Given the description of an element on the screen output the (x, y) to click on. 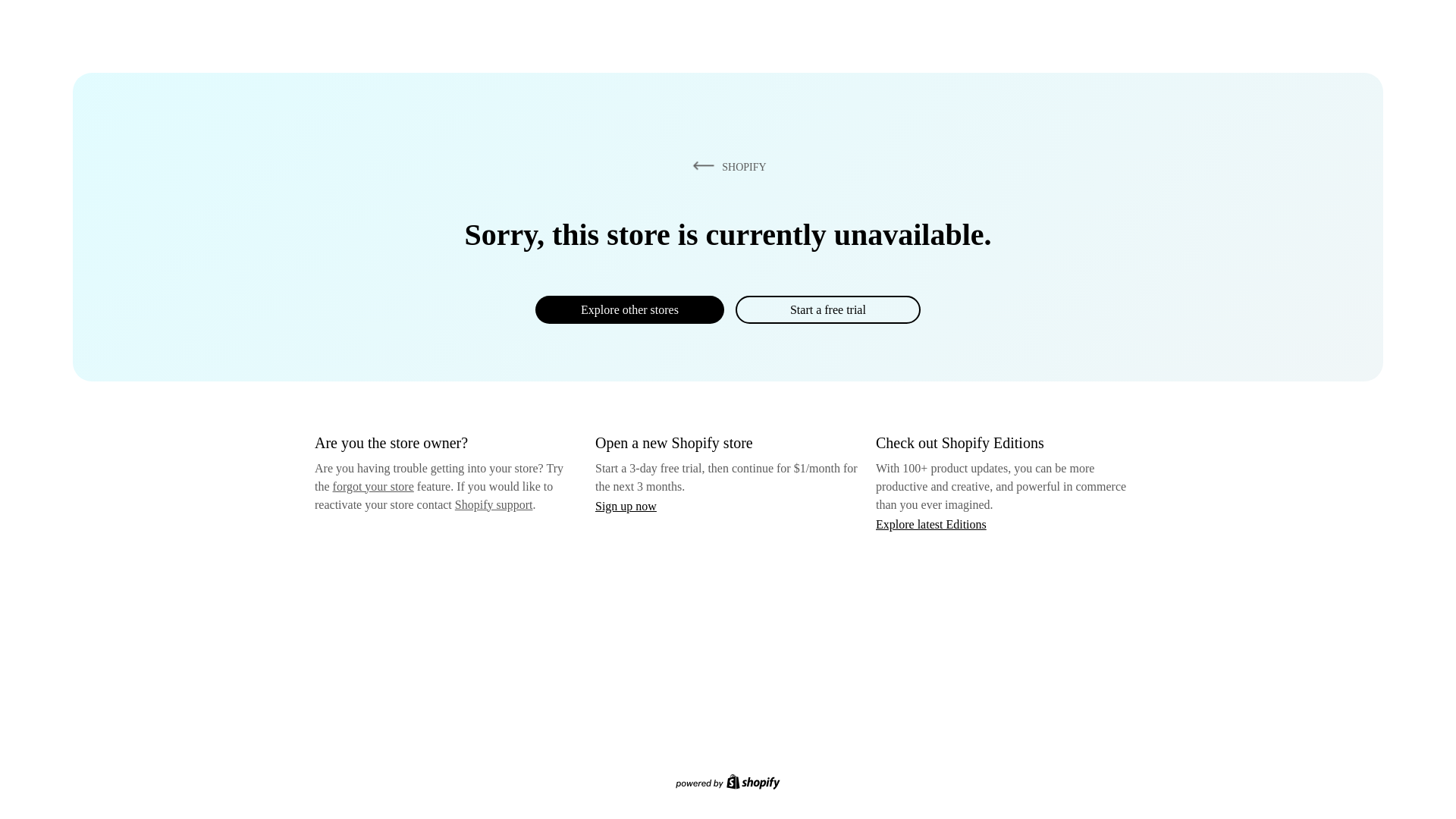
Start a free trial (827, 309)
SHOPIFY (726, 166)
Shopify support (493, 504)
Explore latest Editions (931, 523)
Explore other stores (629, 309)
forgot your store (373, 486)
Sign up now (625, 505)
